Given the description of an element on the screen output the (x, y) to click on. 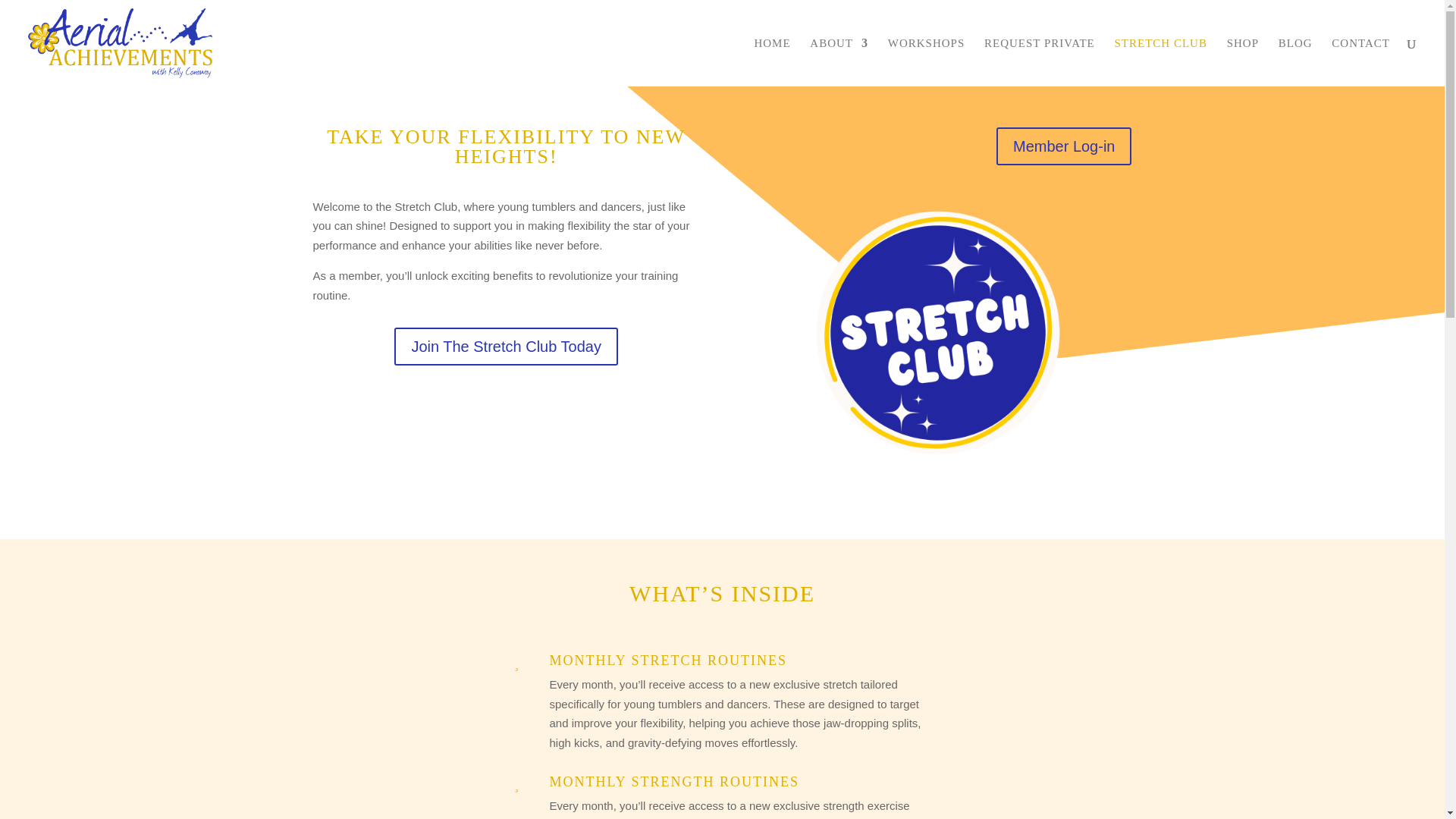
STRETCH CLUB (1160, 61)
REQUEST PRIVATE (1039, 61)
Join The Stretch Club Today (505, 346)
WORKSHOPS (926, 61)
AA Stretch Club (937, 333)
SHOP (1243, 61)
ABOUT (838, 61)
HOME (772, 61)
CONTACT (1361, 61)
Member Log-in (1063, 146)
BLOG (1295, 61)
